Given the description of an element on the screen output the (x, y) to click on. 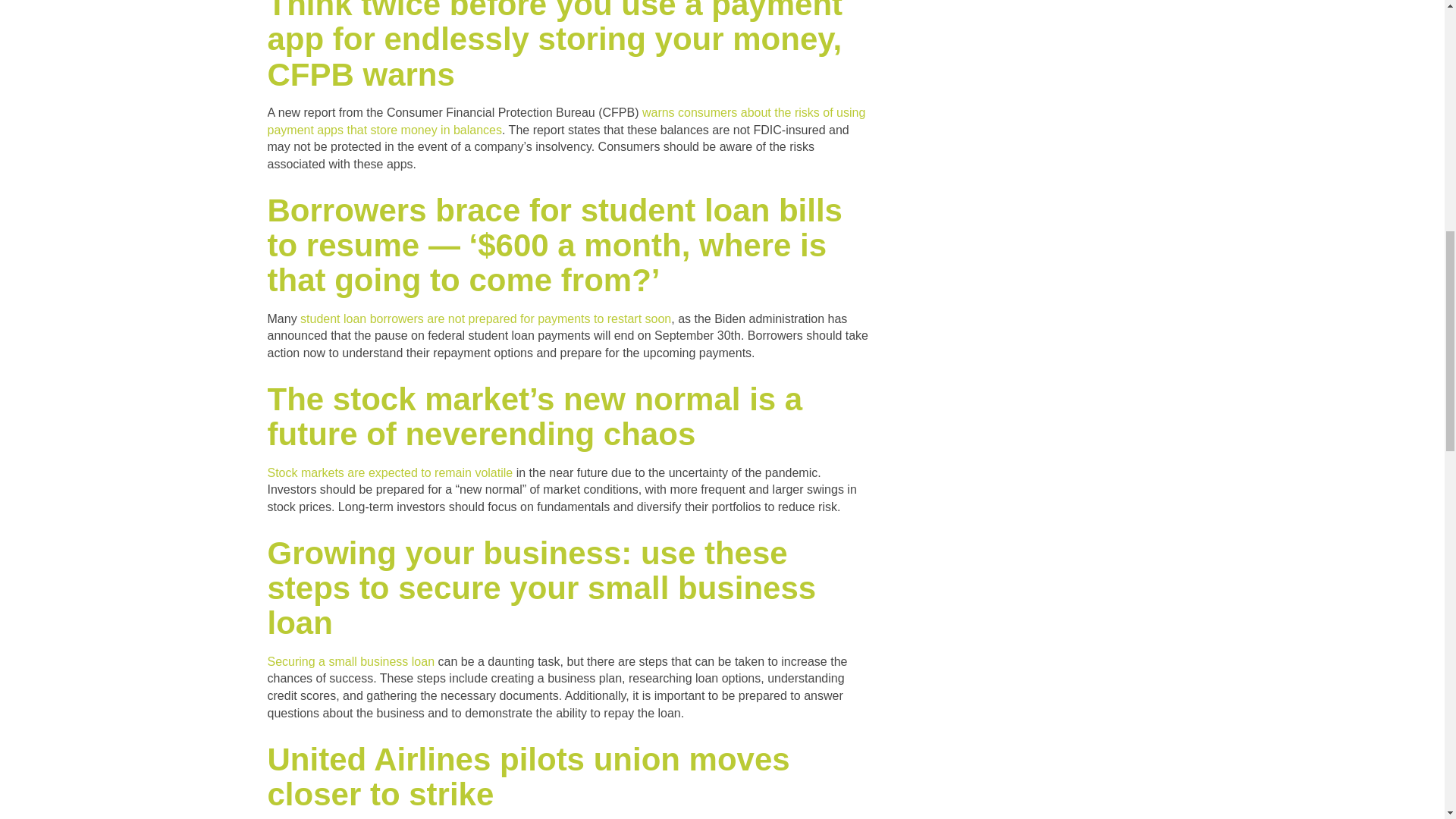
Stock markets are expected to remain volatile (389, 472)
Securing a small business loan (349, 661)
